Given the description of an element on the screen output the (x, y) to click on. 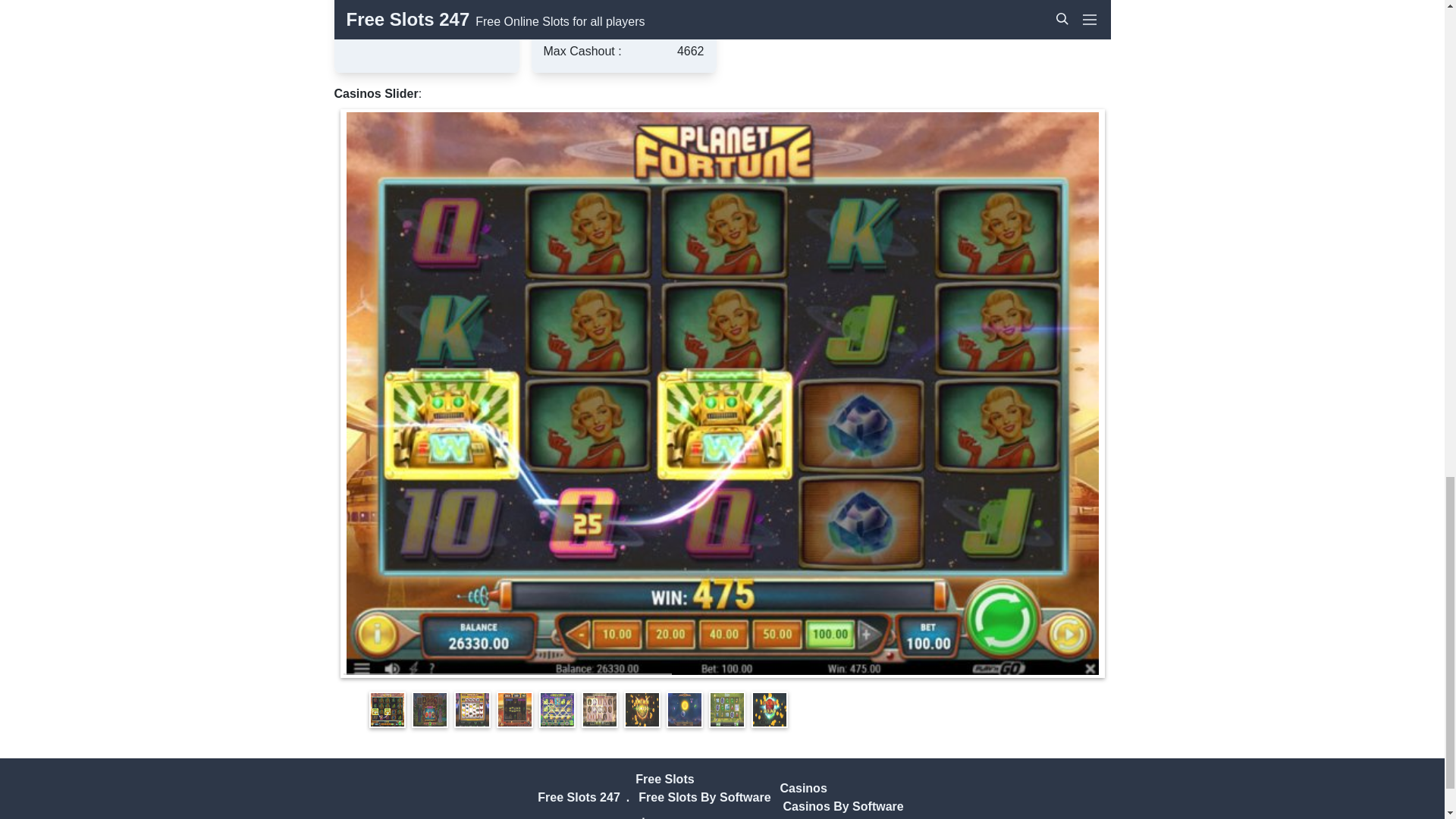
Casinos (803, 788)
Free Slots 247 (578, 797)
Free Slots By Software (704, 797)
Casinos By Software (843, 806)
Free Slots (664, 779)
